Given the description of an element on the screen output the (x, y) to click on. 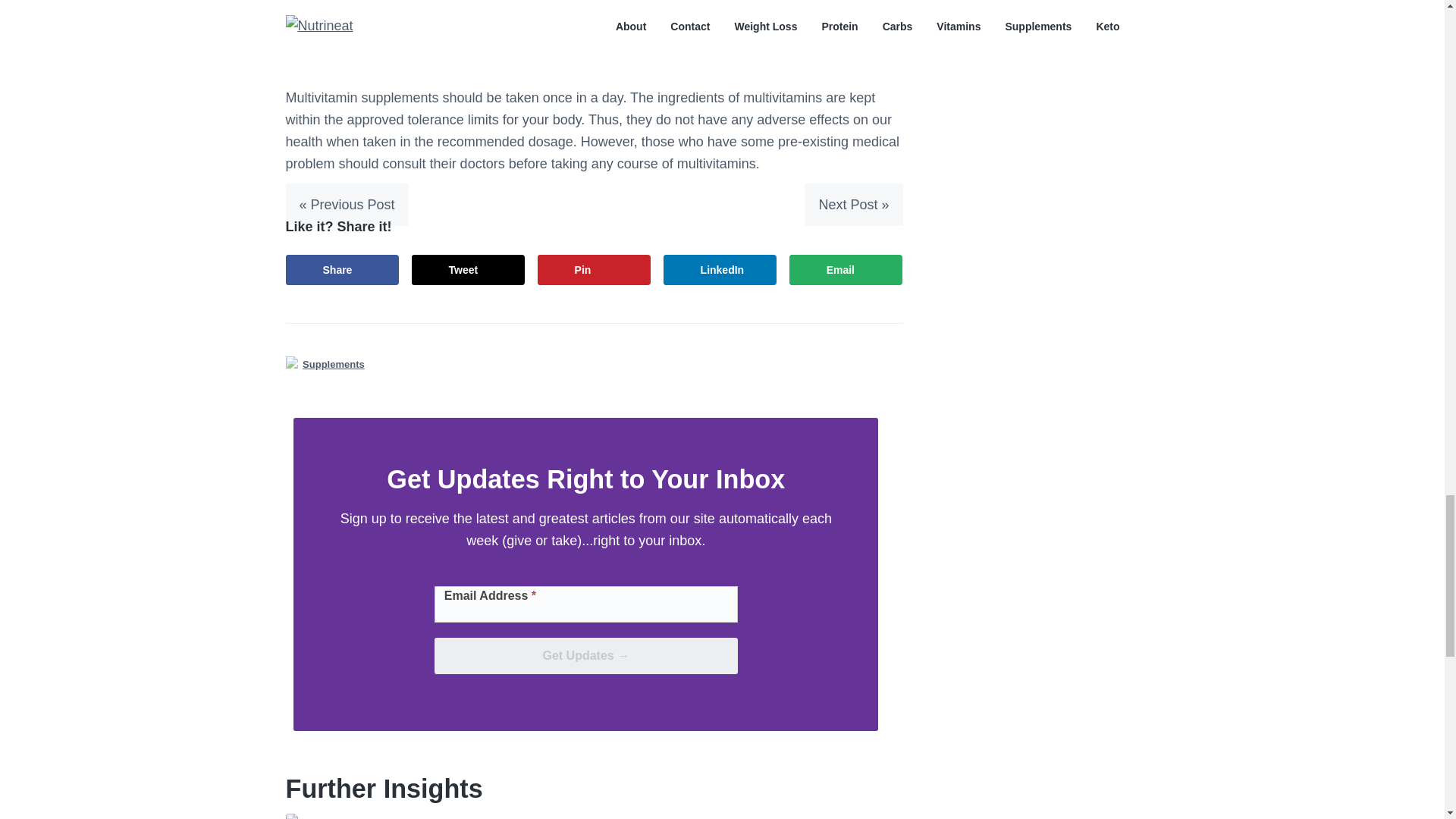
Send over email (845, 269)
LinkedIn (720, 269)
Share on LinkedIn (720, 269)
Share on X (468, 269)
Pin (593, 269)
Save to Pinterest (593, 269)
Share (341, 269)
Email (845, 269)
Share on Facebook (341, 269)
Supplements (333, 364)
Tweet (468, 269)
